Given the description of an element on the screen output the (x, y) to click on. 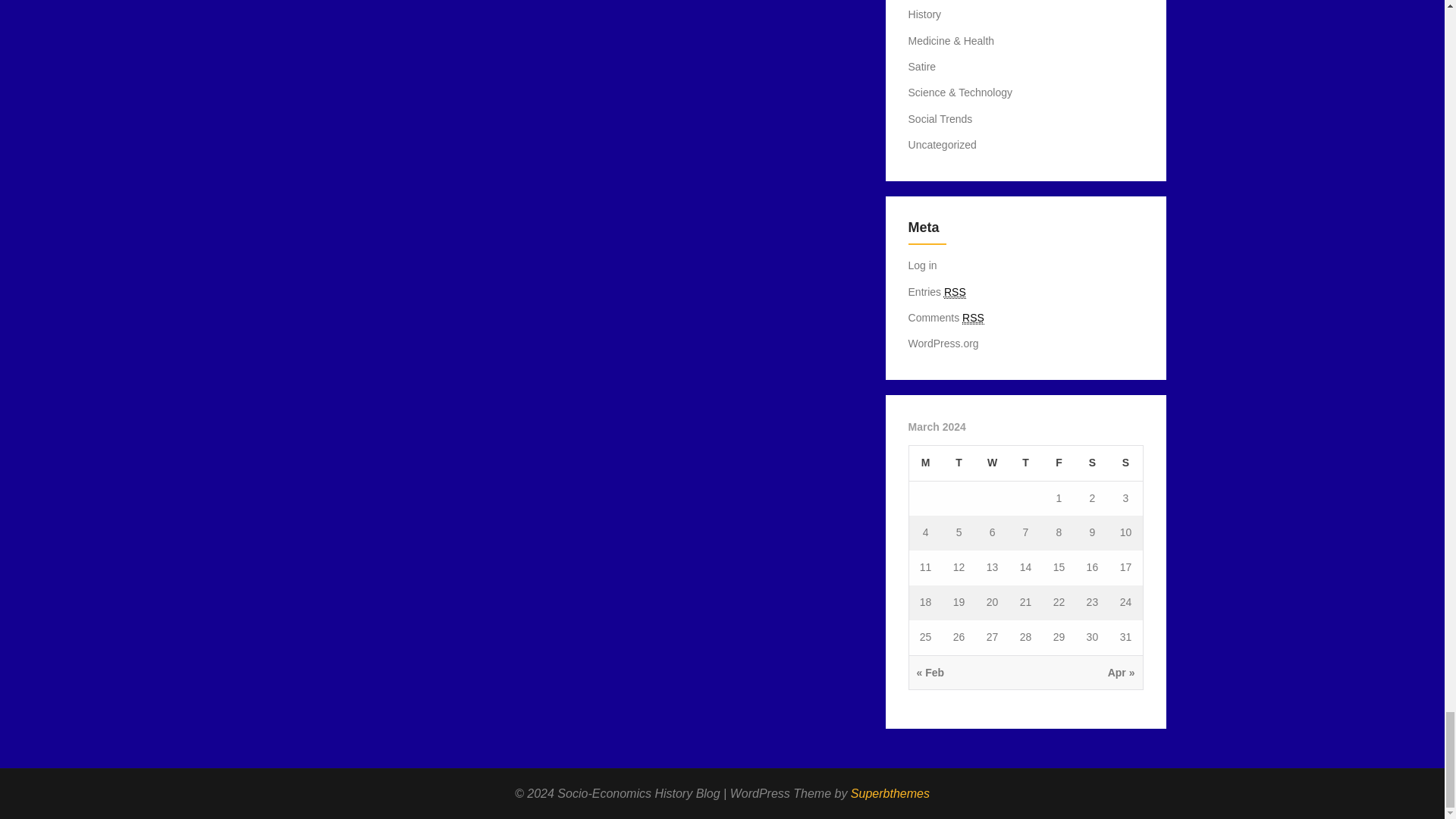
Saturday (1091, 462)
Thursday (1025, 462)
Wednesday (992, 462)
Friday (1058, 462)
Really Simple Syndication (973, 318)
Monday (925, 462)
Sunday (1125, 462)
Tuesday (958, 462)
Really Simple Syndication (954, 291)
